Given the description of an element on the screen output the (x, y) to click on. 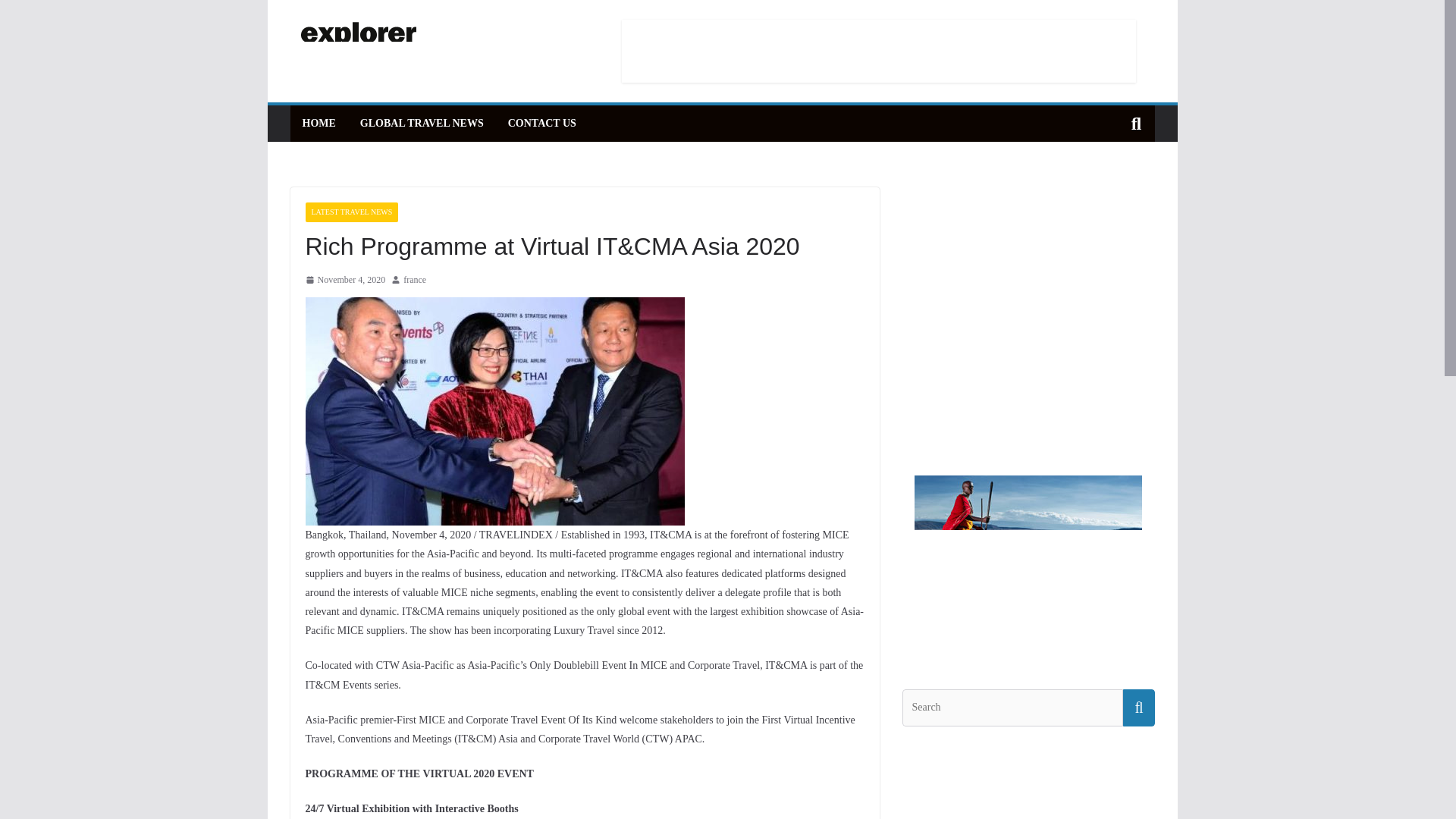
HOME (317, 123)
November 4, 2020 (344, 280)
4:49 am (344, 280)
france (414, 280)
LATEST TRAVEL NEWS (350, 211)
GLOBAL TRAVEL NEWS (421, 123)
CONTACT US (542, 123)
france (414, 280)
YouTube video player (1015, 388)
